Given the description of an element on the screen output the (x, y) to click on. 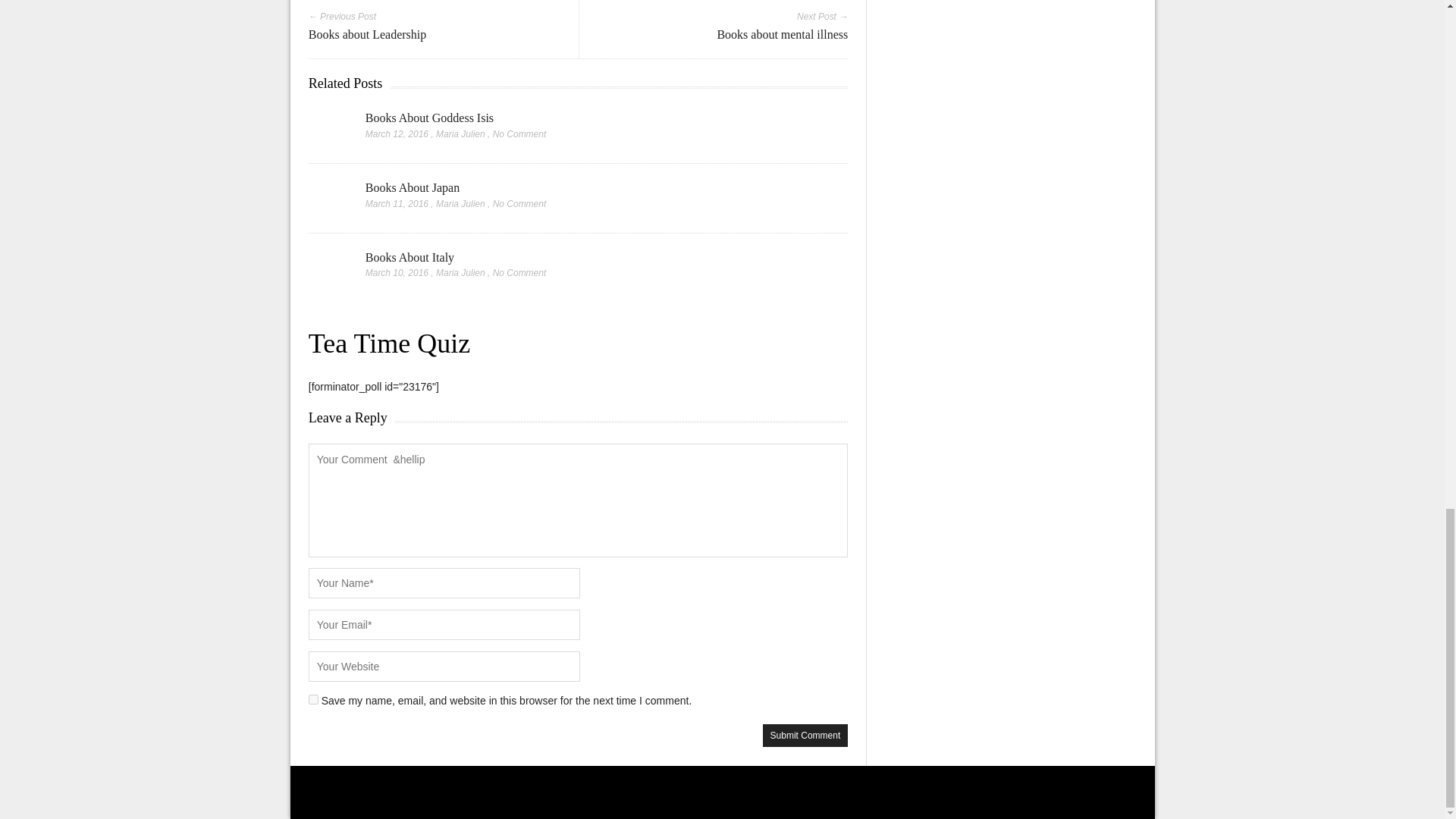
Books About Italy (409, 256)
Books About Japan (412, 187)
Books About Goddess Isis (429, 117)
Posts by Maria Julien (459, 272)
Maria Julien (459, 204)
Books About Italy (329, 270)
Books About Goddess Isis (429, 117)
No Comment (520, 133)
Maria Julien (459, 272)
Maria Julien (459, 133)
Books About Japan (412, 187)
Posts by Maria Julien (459, 204)
yes (313, 699)
Books About Goddess Isis (329, 129)
No Comment (520, 204)
